Given the description of an element on the screen output the (x, y) to click on. 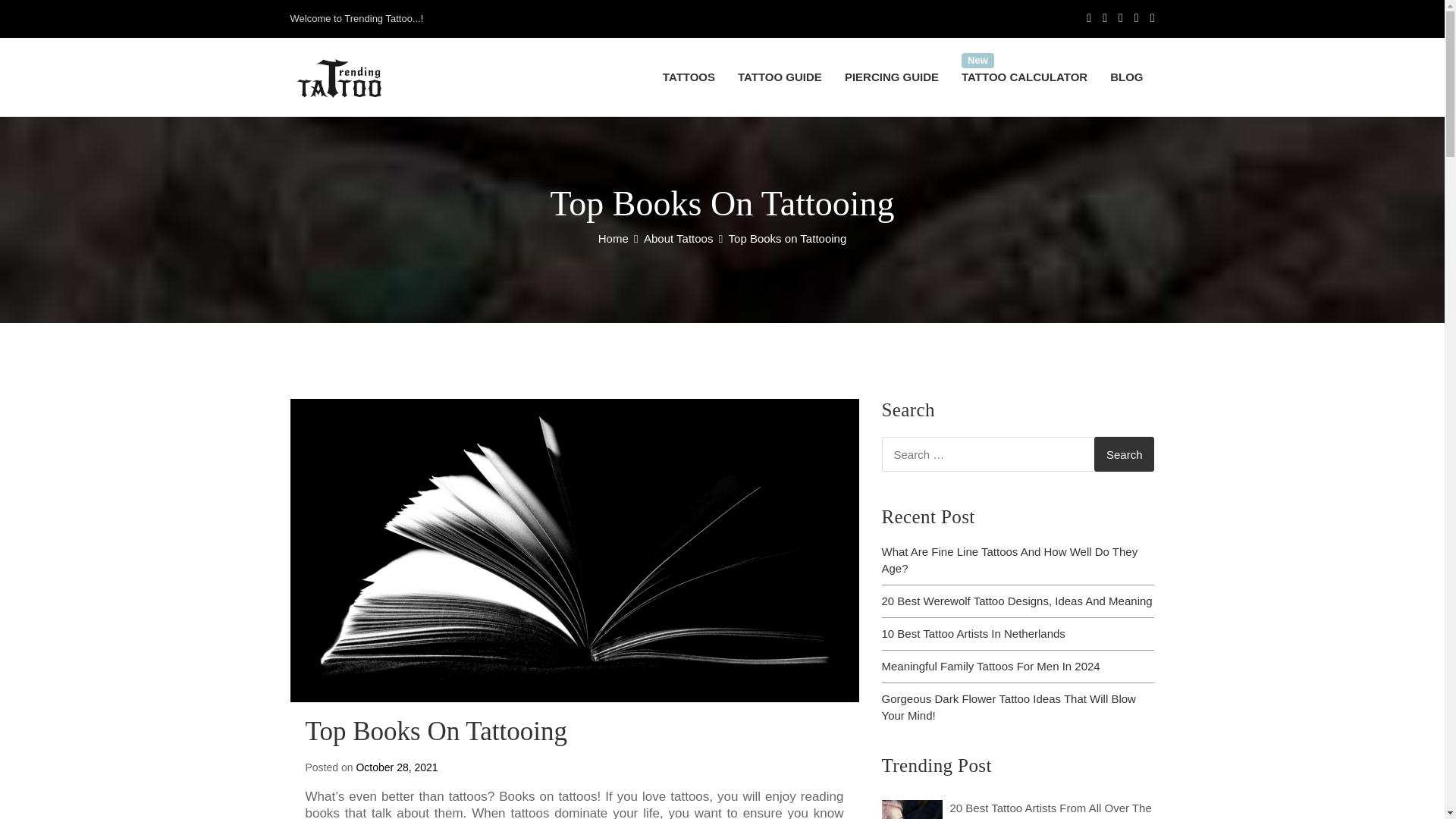
Search (1124, 453)
Home (613, 237)
TATTOO CALCULATOR (1024, 77)
October 28, 2021 (396, 767)
TATTOO GUIDE (779, 77)
About Tattoos (678, 237)
BLOG (1126, 77)
TATTOOS (688, 77)
Search (1124, 453)
Best Tattoo Artist - Trending Tattoo (911, 809)
PIERCING GUIDE (891, 77)
